Given the description of an element on the screen output the (x, y) to click on. 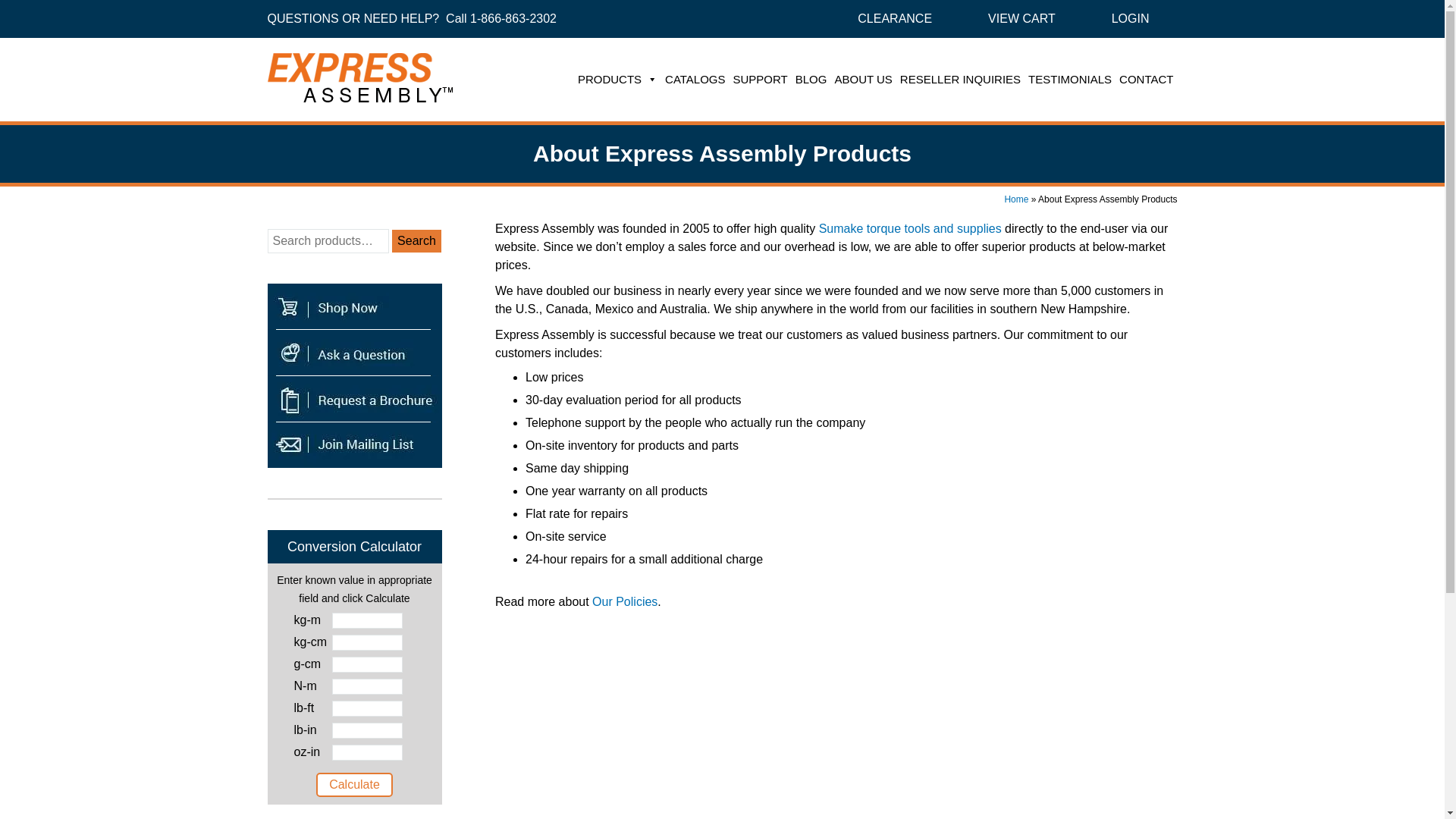
CLEARANCE (894, 18)
Calculate (354, 784)
VIEW CART (1021, 18)
CATALOGS (695, 79)
LOGIN (1130, 18)
PRODUCTS (617, 79)
SUPPORT (760, 79)
